Given the description of an element on the screen output the (x, y) to click on. 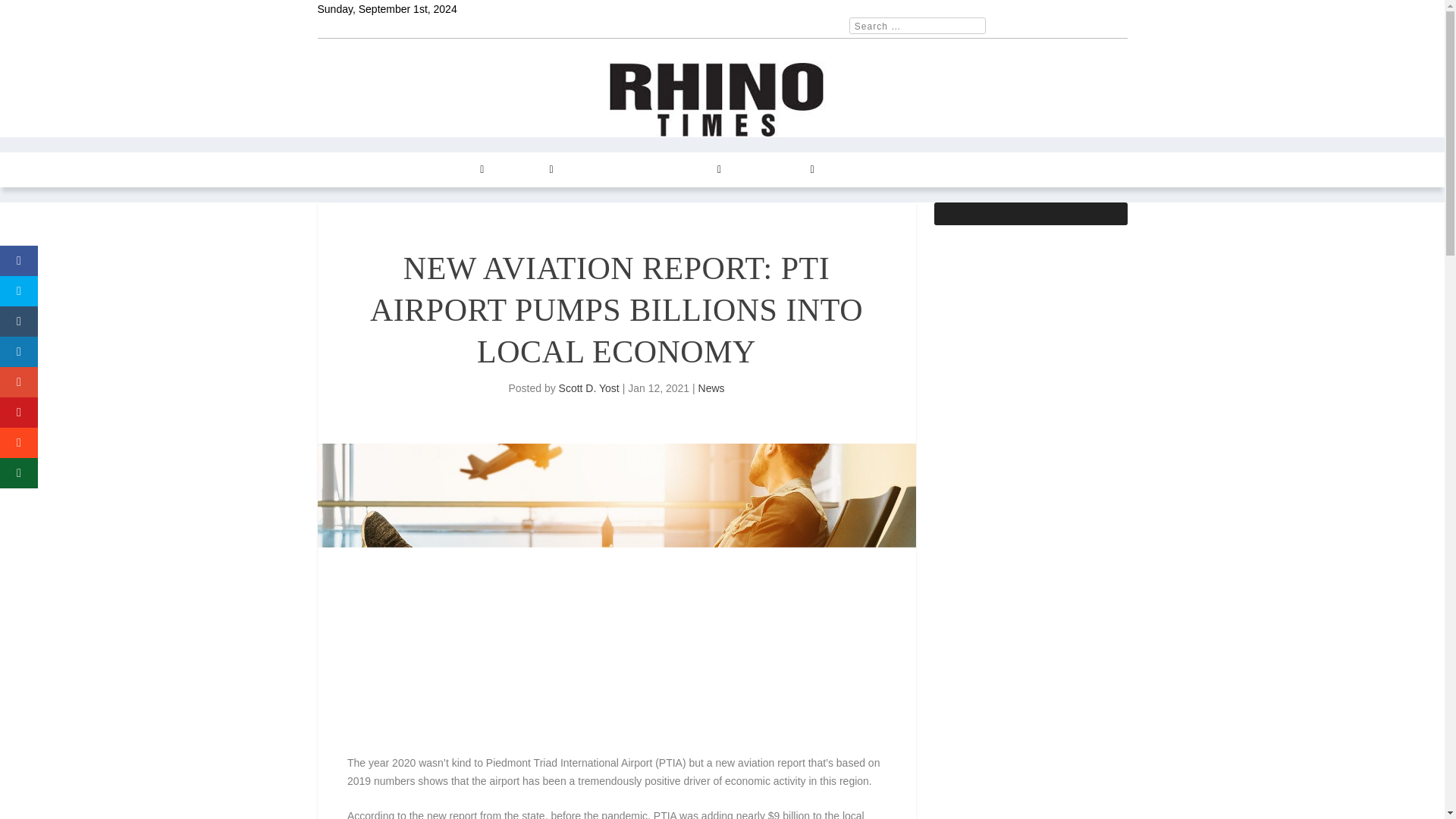
REAL ESTATE (606, 169)
OBITUARIES (935, 169)
NEWS (390, 169)
Posts by Scott D. Yost (589, 387)
HOME (342, 169)
Search (31, 13)
Scott D. Yost (589, 387)
CONTACT US (775, 169)
ABOUT US (858, 169)
ARCHIVES (689, 169)
